Given the description of an element on the screen output the (x, y) to click on. 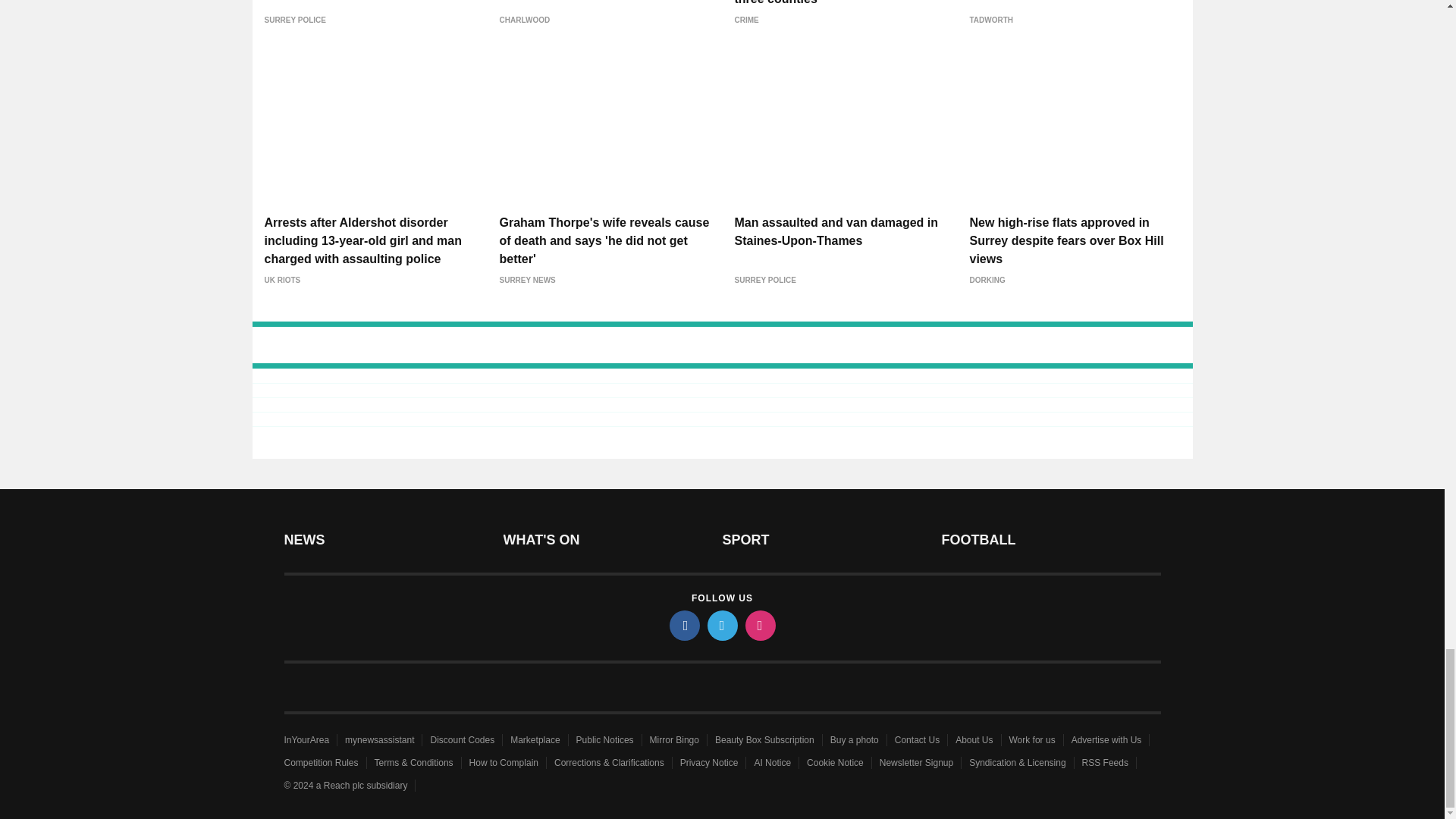
twitter (721, 625)
facebook (683, 625)
instagram (759, 625)
